Given the description of an element on the screen output the (x, y) to click on. 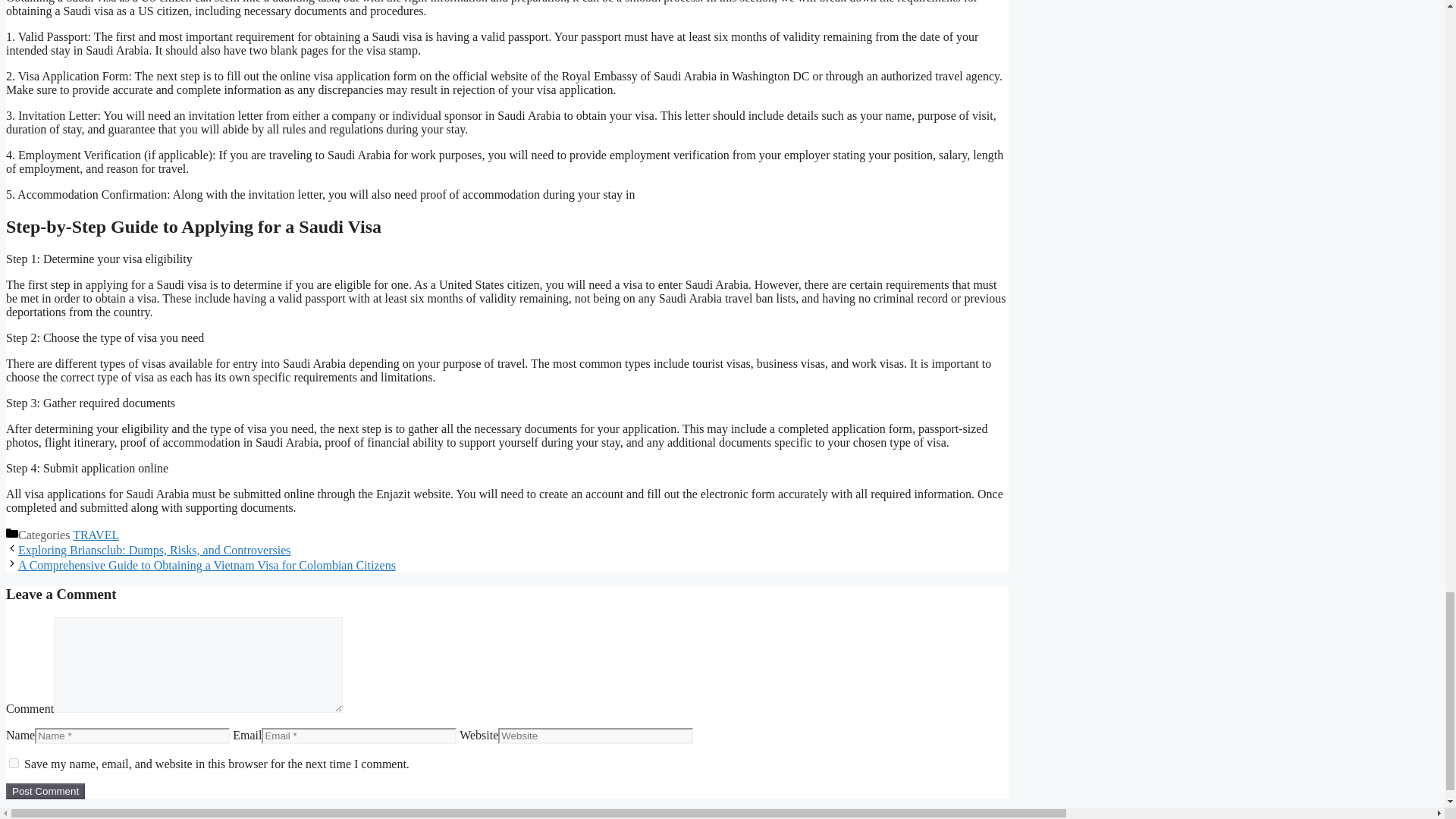
Post Comment (44, 790)
Exploring Briansclub: Dumps, Risks, and Controversies (154, 549)
TRAVEL (95, 534)
Post Comment (44, 790)
yes (13, 763)
